Given the description of an element on the screen output the (x, y) to click on. 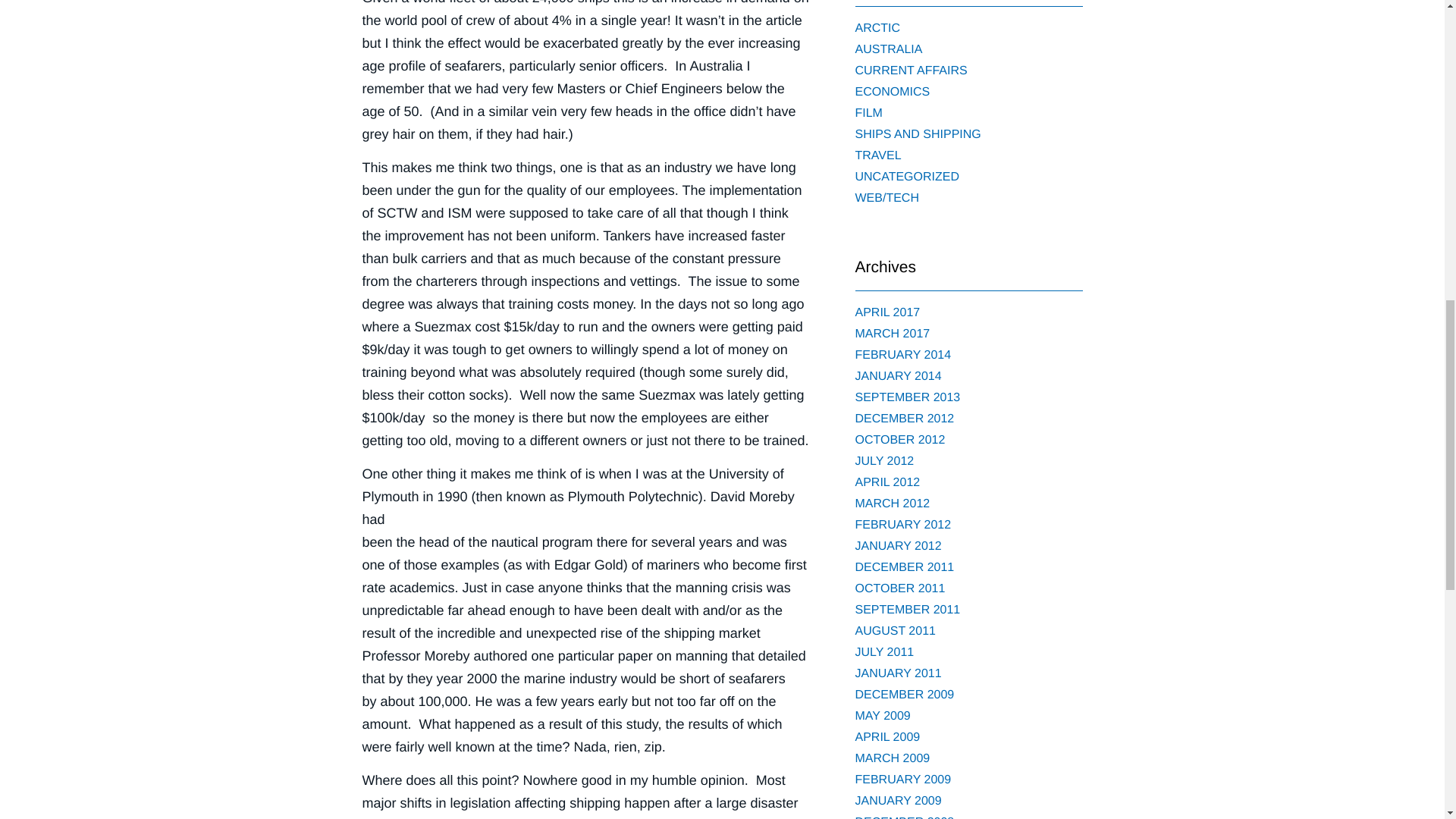
APRIL 2017 (888, 312)
ECONOMICS (893, 91)
AUSTRALIA (889, 49)
JANUARY 2014 (899, 376)
FEBRUARY 2014 (904, 354)
SHIPS AND SHIPPING (918, 133)
ARCTIC (878, 28)
SEPTEMBER 2013 (908, 397)
OCTOBER 2012 (900, 440)
CURRENT AFFAIRS (912, 70)
FILM (869, 113)
UNCATEGORIZED (907, 176)
APRIL 2012 (888, 481)
OCTOBER 2011 (900, 588)
SEPTEMBER 2011 (908, 609)
